Given the description of an element on the screen output the (x, y) to click on. 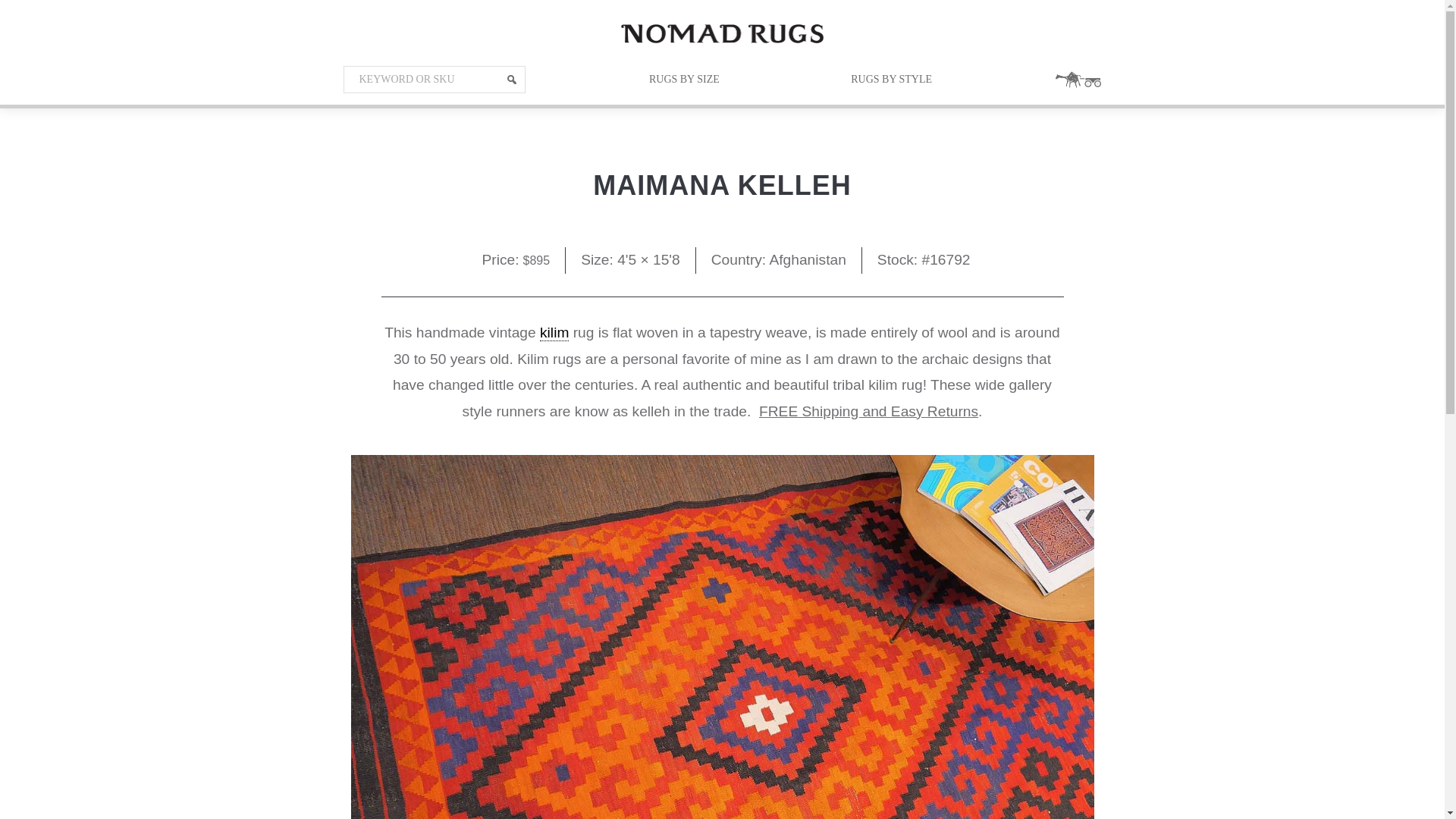
RUGS BY STYLE (891, 79)
FREE Shipping and Easy Returns (868, 411)
kilim (554, 332)
RUGS BY SIZE (684, 79)
